Given the description of an element on the screen output the (x, y) to click on. 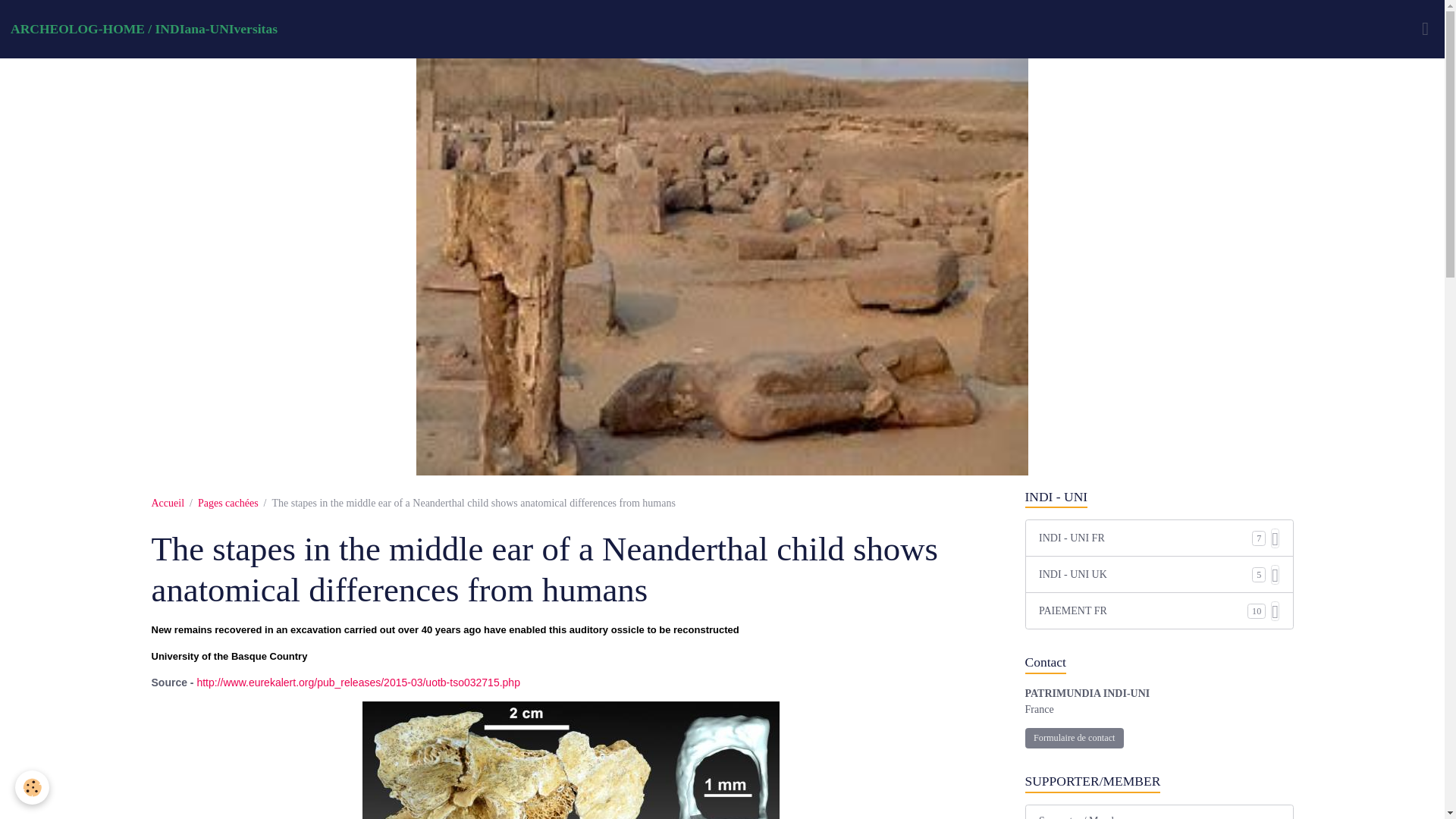
Formulaire de contact (1074, 738)
PAIEMENT FR (1143, 610)
INDI - UNI UK (1145, 574)
INDI - UNI FR (1145, 537)
INDI - UNI (1159, 496)
Accueil (167, 502)
